Given the description of an element on the screen output the (x, y) to click on. 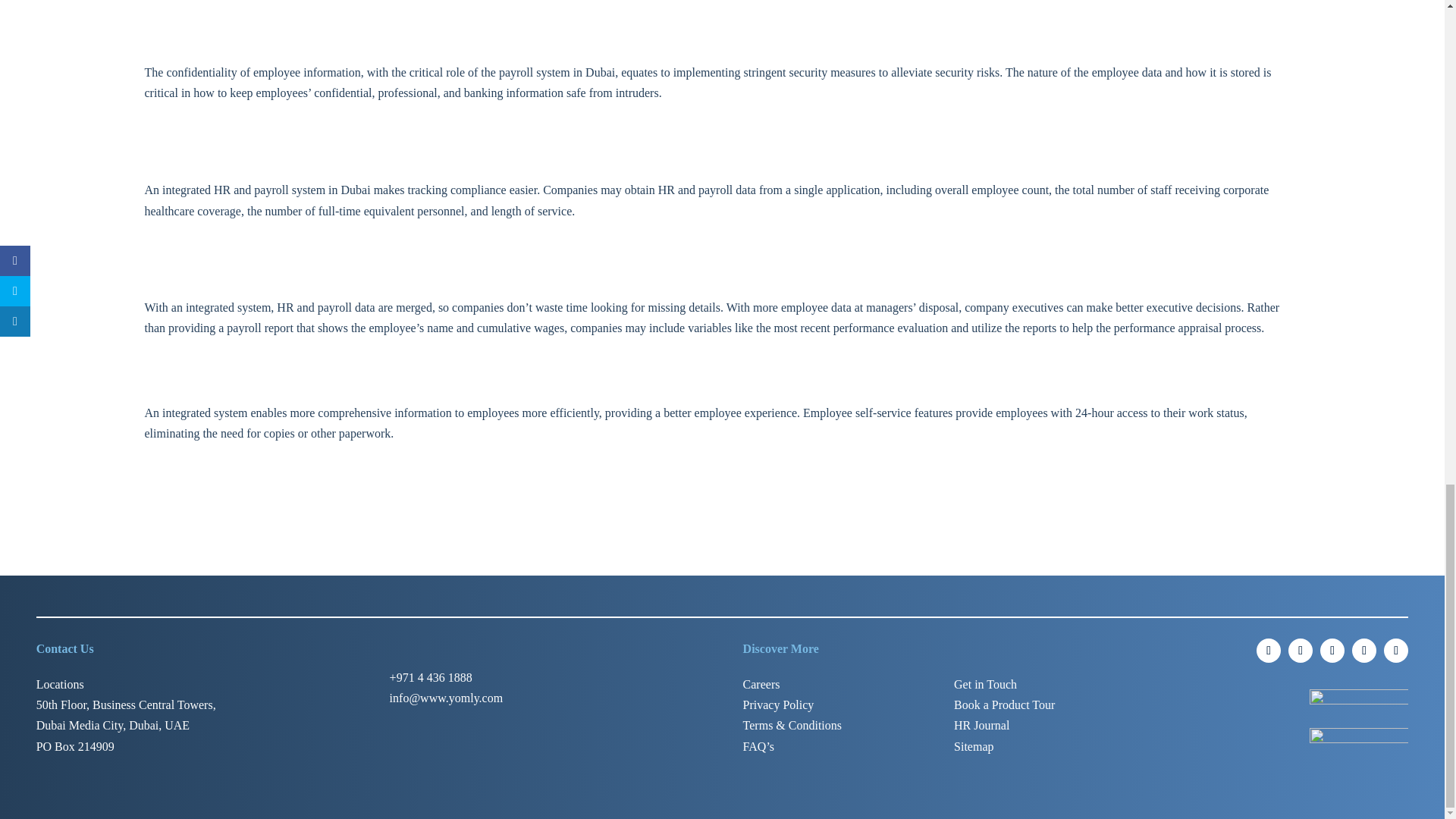
Book a Product Tour (1003, 704)
Follow on Instagram (1268, 650)
Follow on LinkedIn (1300, 650)
Get in Touch (984, 684)
Sitemap (972, 746)
Follow on X (1363, 650)
Follow on Youtube (1395, 650)
Get in Touch (984, 684)
HR Journal (981, 725)
Careers (761, 684)
Privacy Policy (777, 704)
HR Journal (981, 725)
Follow on Facebook (1331, 650)
Book a Product Tour (1003, 704)
App-Store (1357, 704)
